Given the description of an element on the screen output the (x, y) to click on. 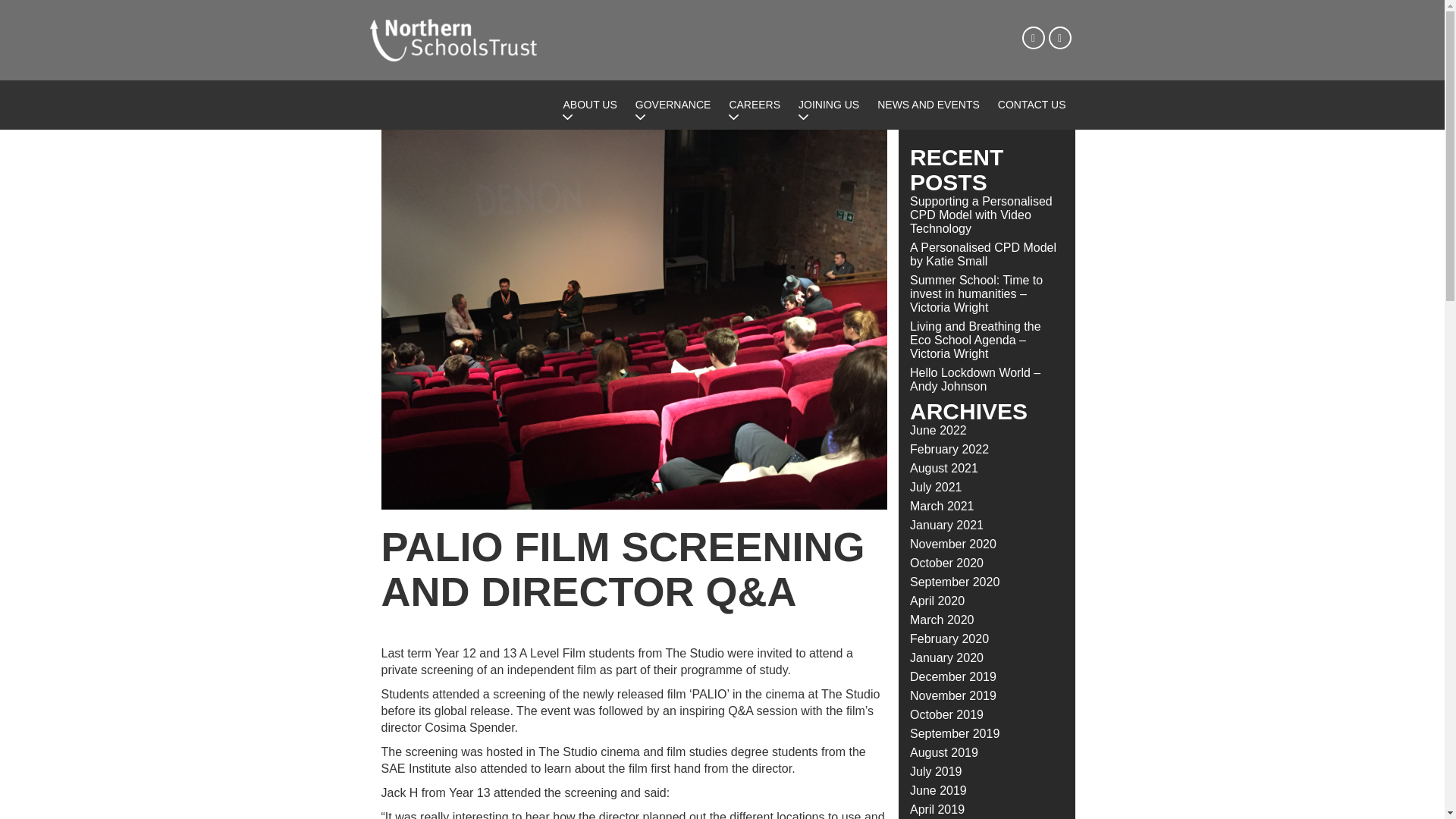
ABOUT US (589, 104)
CAREERS (754, 104)
NEWS AND EVENTS (927, 104)
JOINING US (828, 104)
CONTACT US (1031, 104)
Supporting a Personalised CPD Model with Video Technology (981, 214)
GOVERNANCE (673, 104)
A Personalised CPD Model by Katie Small (983, 253)
